Given the description of an element on the screen output the (x, y) to click on. 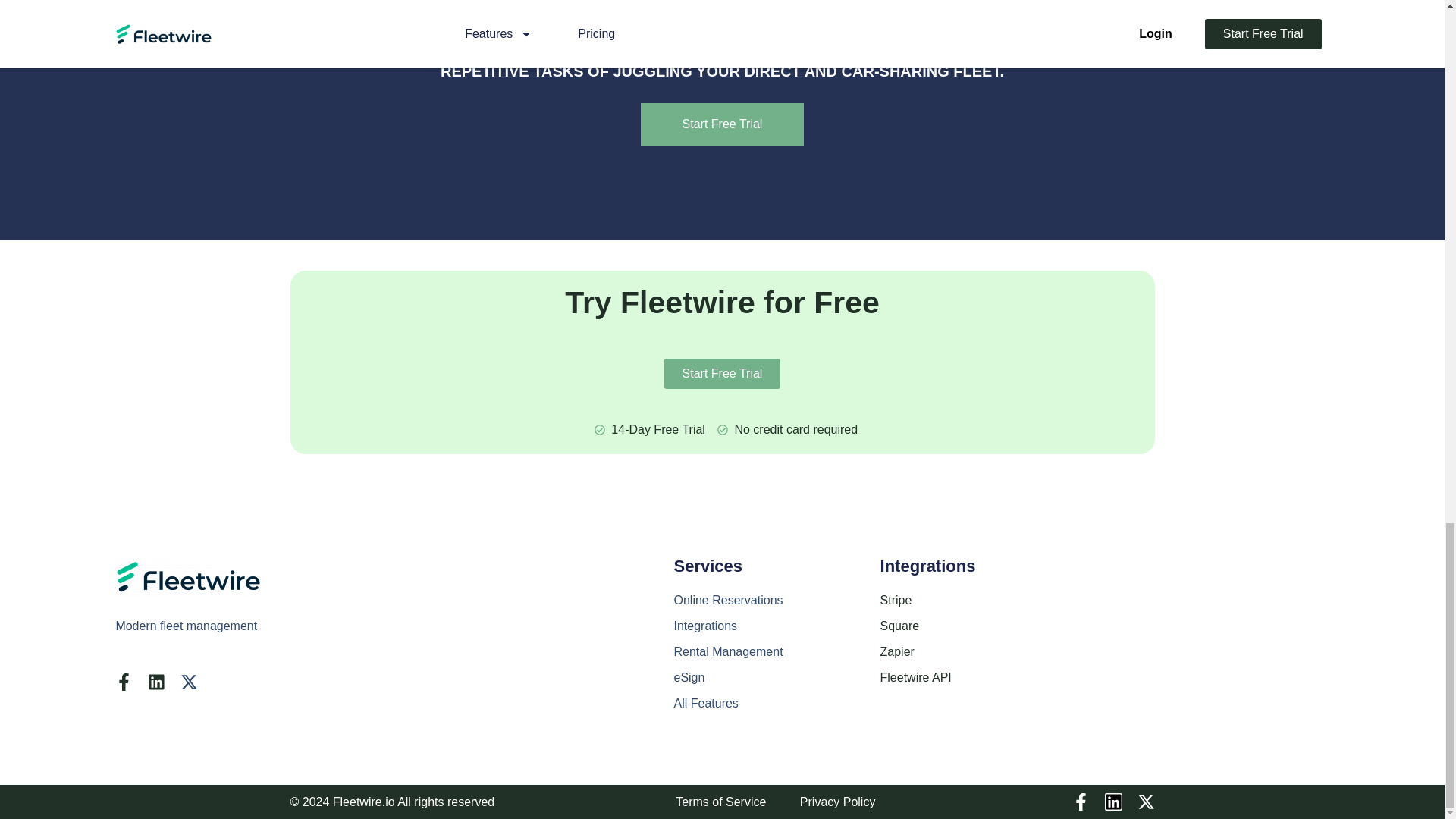
logo-main-transparent (188, 576)
Start Free Trial (721, 373)
Start Free Trial (722, 124)
